Given the description of an element on the screen output the (x, y) to click on. 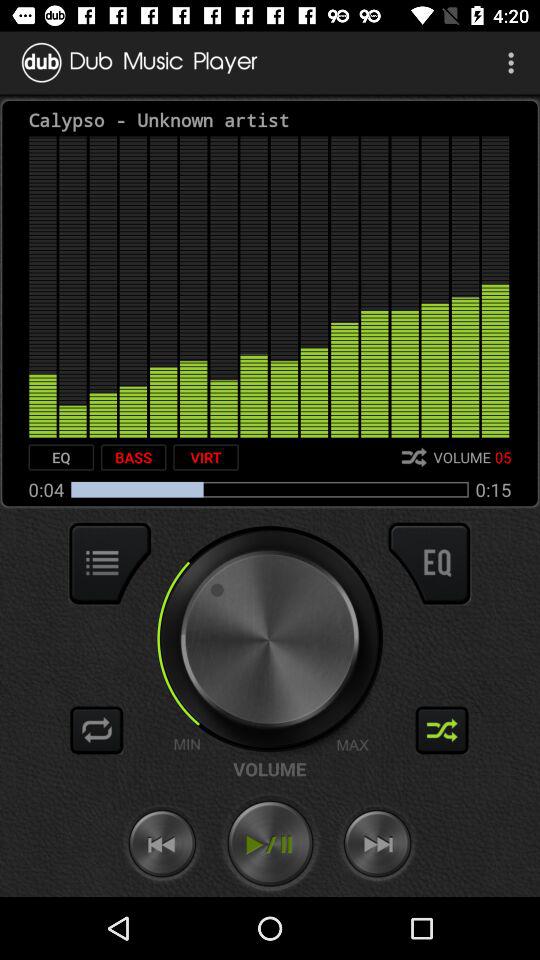
select item next to the  bass  item (205, 457)
